Given the description of an element on the screen output the (x, y) to click on. 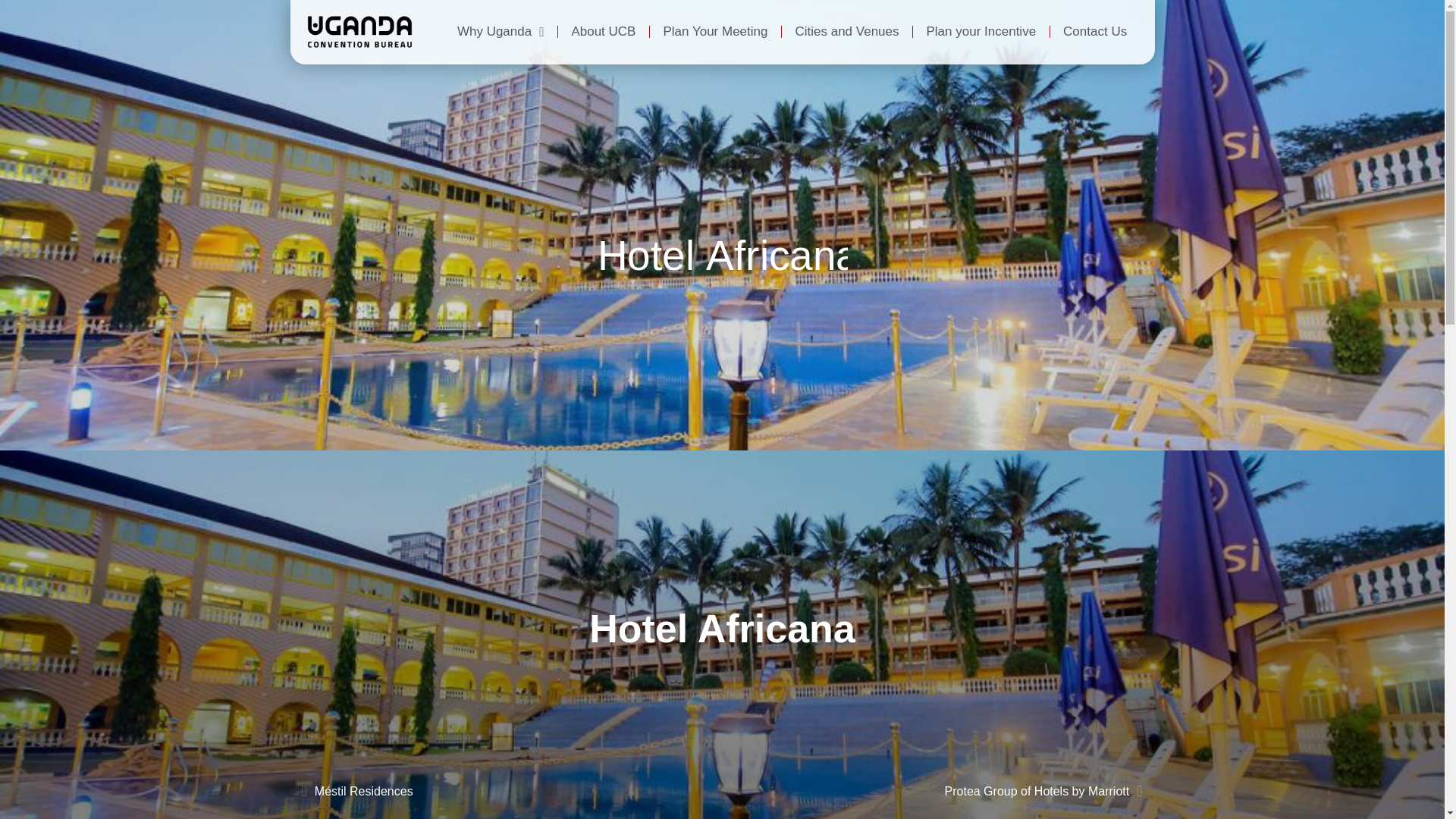
Cities and Venues (847, 31)
Plan Your Meeting (714, 31)
About UCB (603, 31)
Plan your Incentive (981, 31)
Protea Group of Hotels by Marriott (932, 791)
Why Uganda (500, 31)
Contact Us (1094, 31)
